Given the description of an element on the screen output the (x, y) to click on. 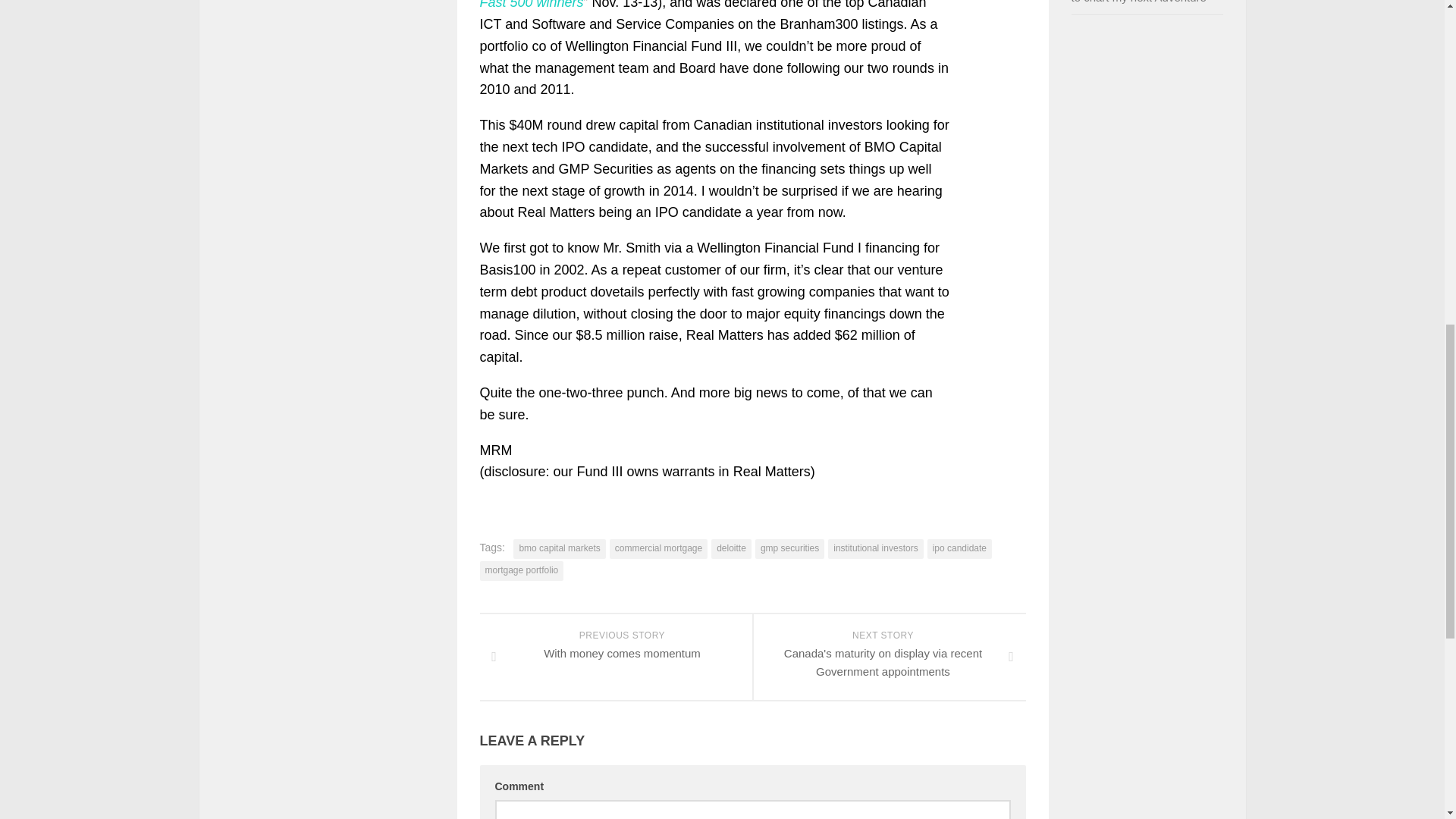
institutional investors (875, 548)
ipo candidate (959, 548)
gmp securities (789, 548)
commercial mortgage (658, 548)
mortgage portfolio (521, 570)
bmo capital markets (615, 657)
deloitte (559, 548)
